Given the description of an element on the screen output the (x, y) to click on. 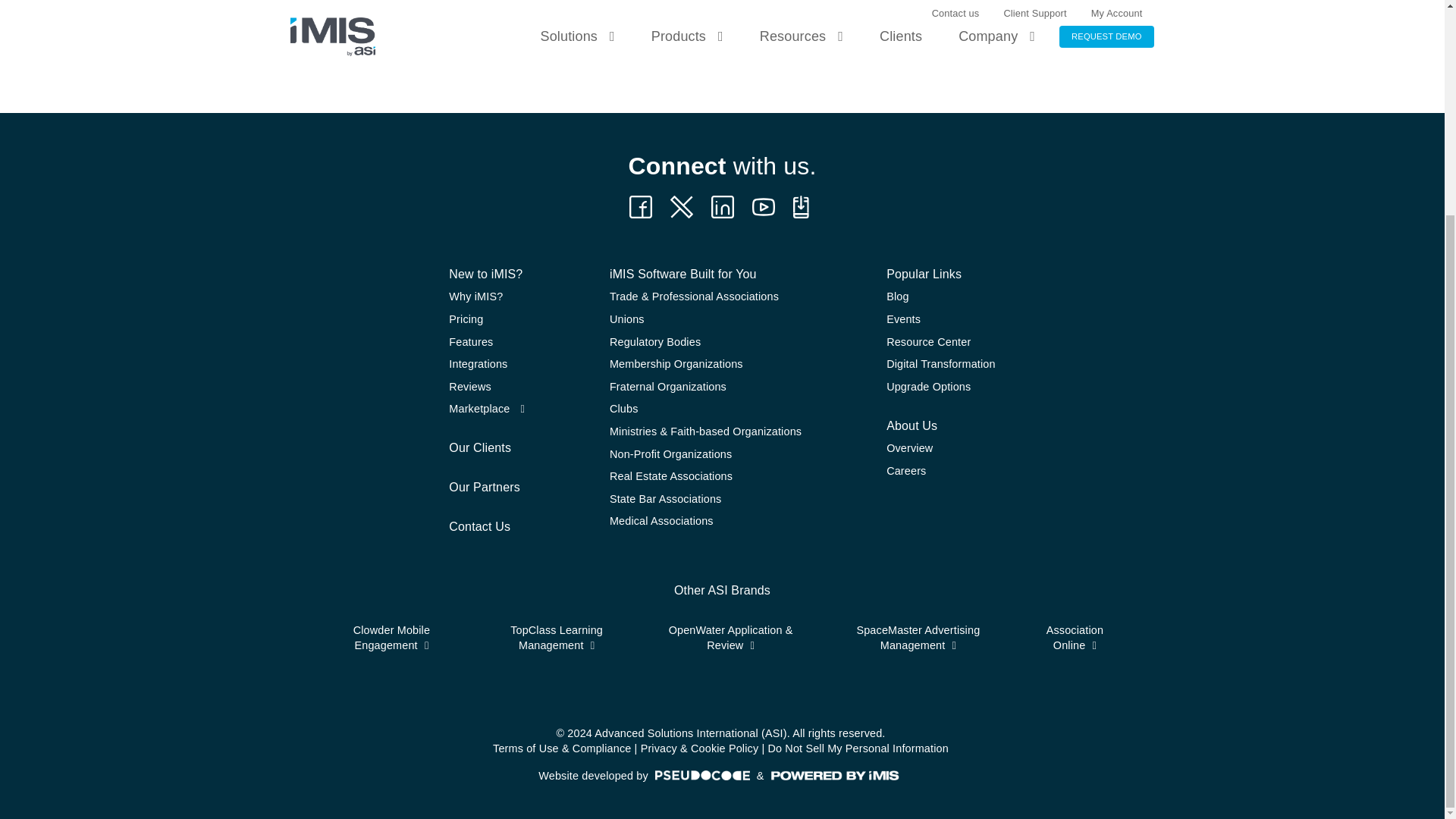
Follow on Twitter (804, 206)
Twitter (681, 206)
LinkedIn (722, 206)
YouTube (763, 206)
Follow on Facebook (640, 206)
